Given the description of an element on the screen output the (x, y) to click on. 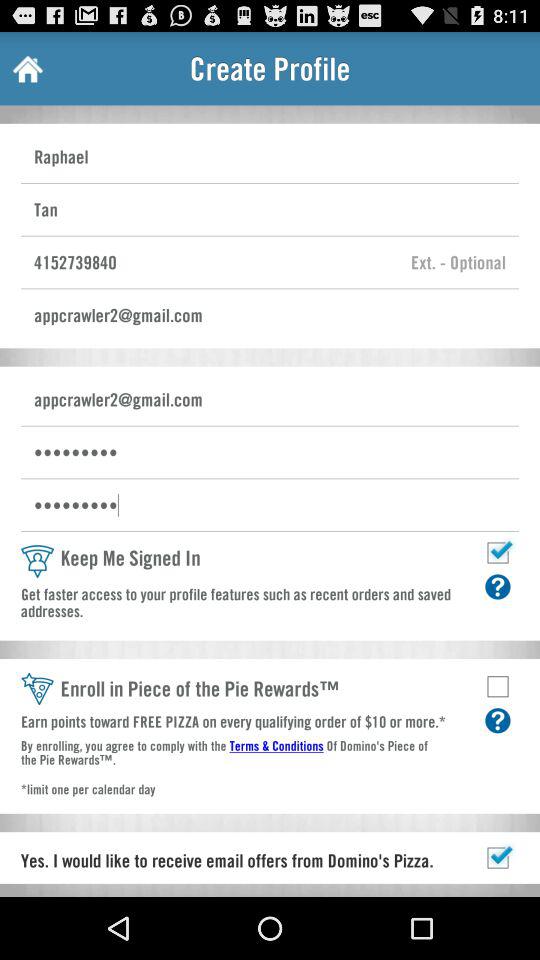
add phone extension (458, 261)
